Given the description of an element on the screen output the (x, y) to click on. 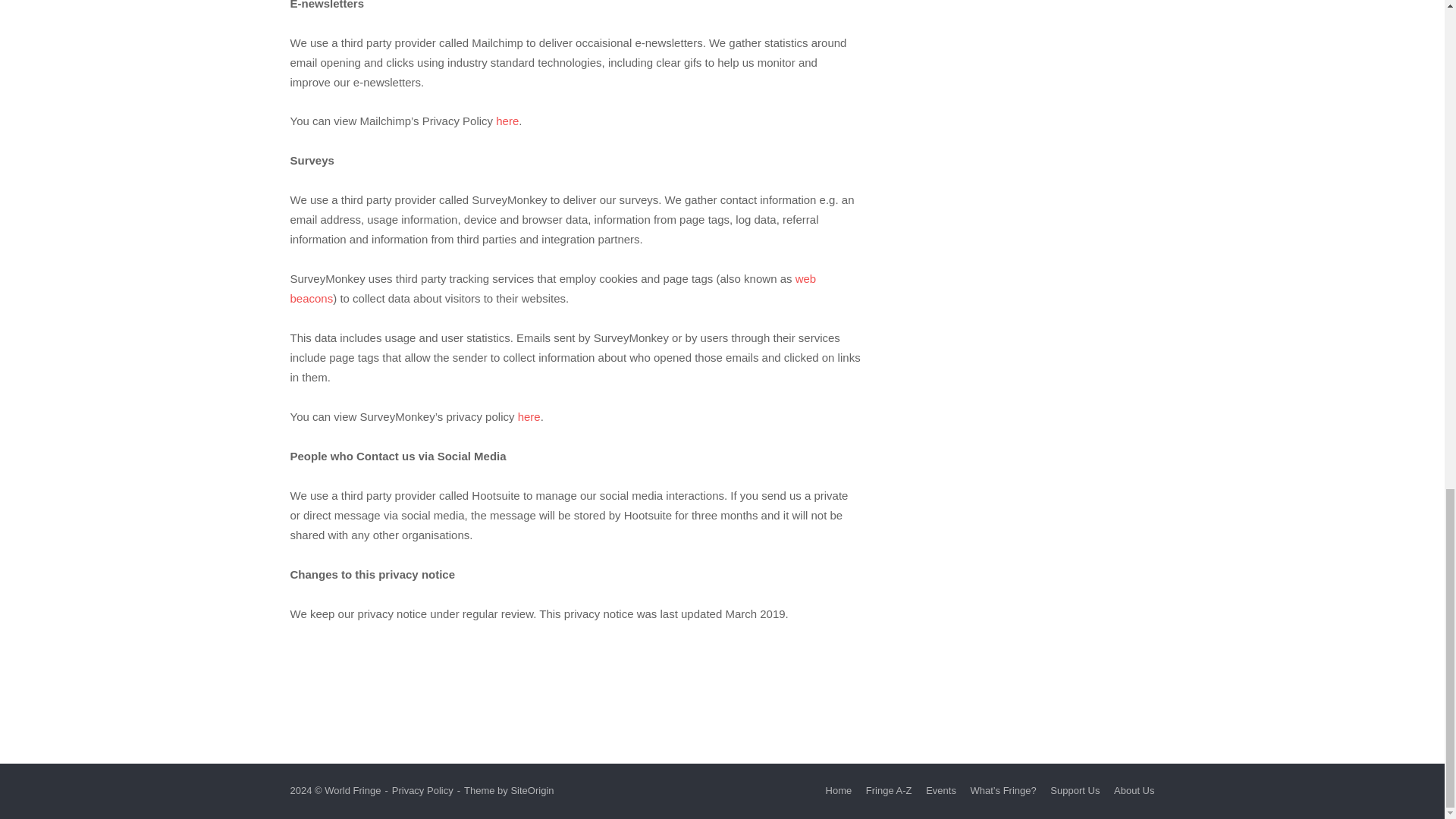
SiteOrigin (532, 790)
web beacons (552, 287)
Events (941, 790)
Fringe A-Z (889, 790)
here (529, 416)
Home (838, 790)
Privacy Policy (421, 790)
here (507, 120)
